Given the description of an element on the screen output the (x, y) to click on. 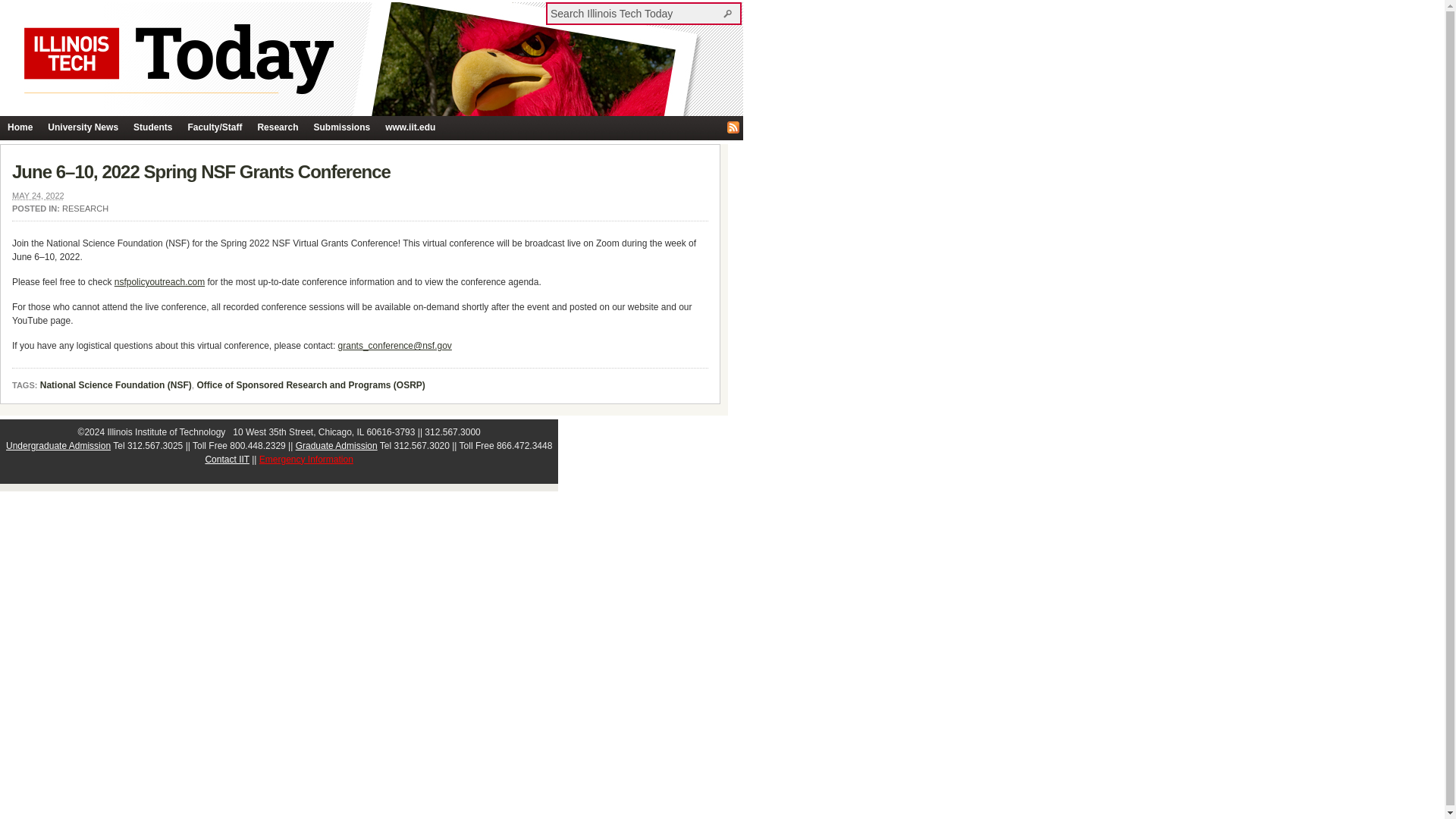
Contact IIT (226, 459)
Submissions (341, 127)
Illinois Tech Today RSS Feed (732, 127)
Students (152, 127)
Search Illinois Tech Today (636, 13)
Search (729, 13)
Search (729, 13)
www.iit.edu (409, 127)
Graduate Admission (336, 445)
Emergency Information (306, 459)
RSS Feed (732, 127)
RESEARCH (84, 207)
Undergraduate Admission (57, 445)
Contact IIT (226, 459)
University News (82, 127)
